Given the description of an element on the screen output the (x, y) to click on. 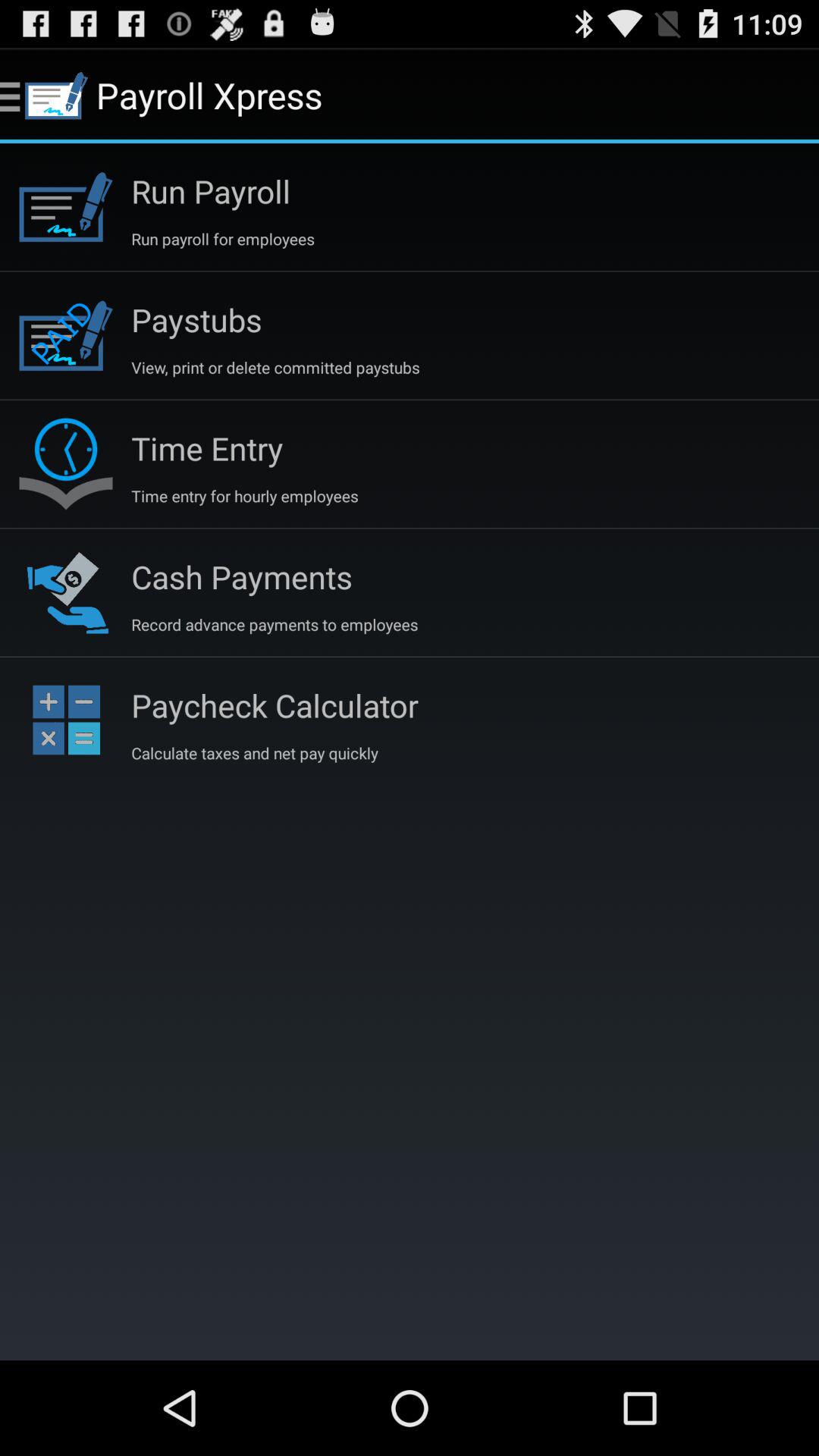
tap the icon below the time entry for (241, 576)
